Given the description of an element on the screen output the (x, y) to click on. 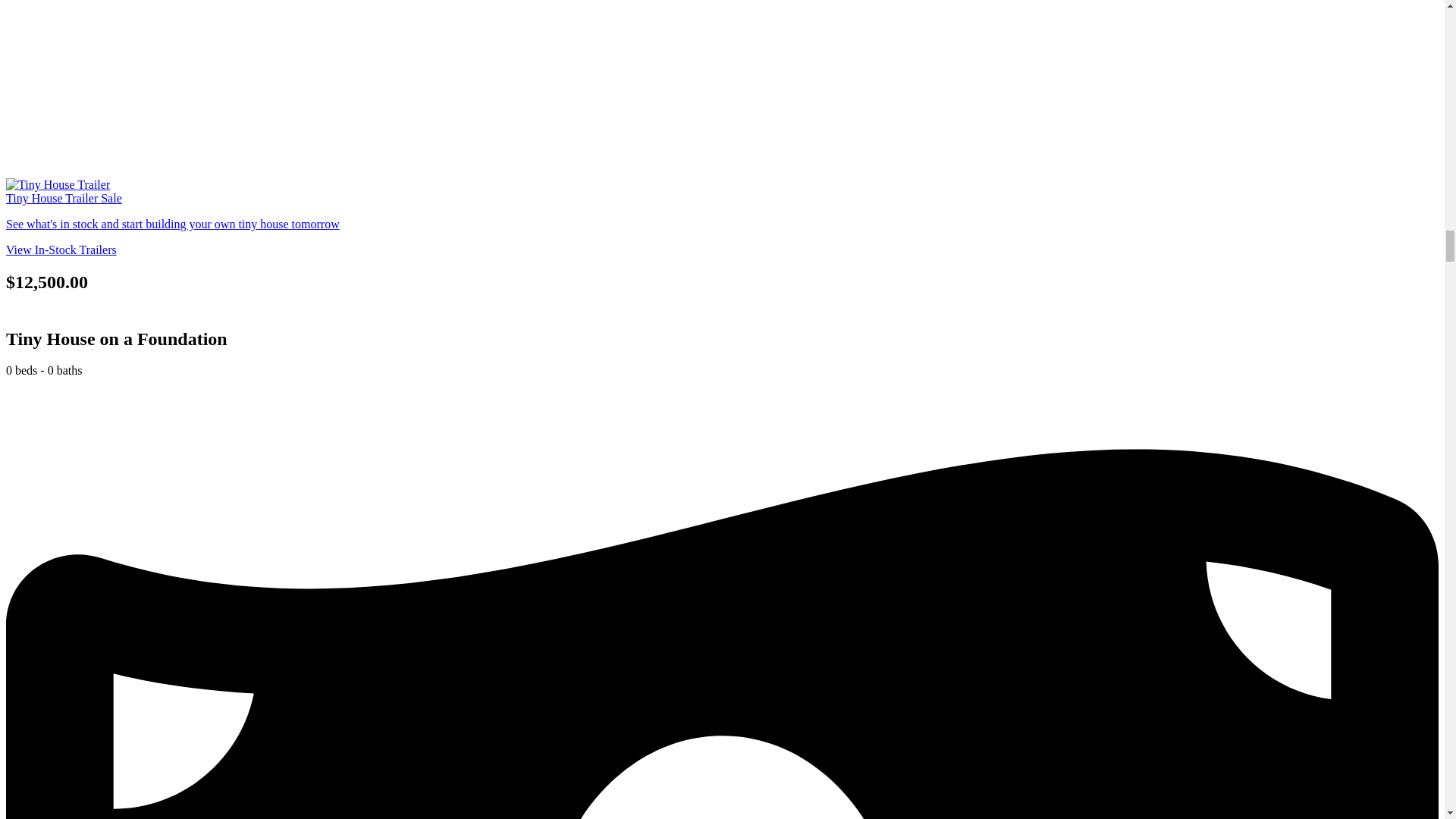
Tiny House Trailer Sale (63, 197)
View In-Stock Trailers (60, 249)
